Given the description of an element on the screen output the (x, y) to click on. 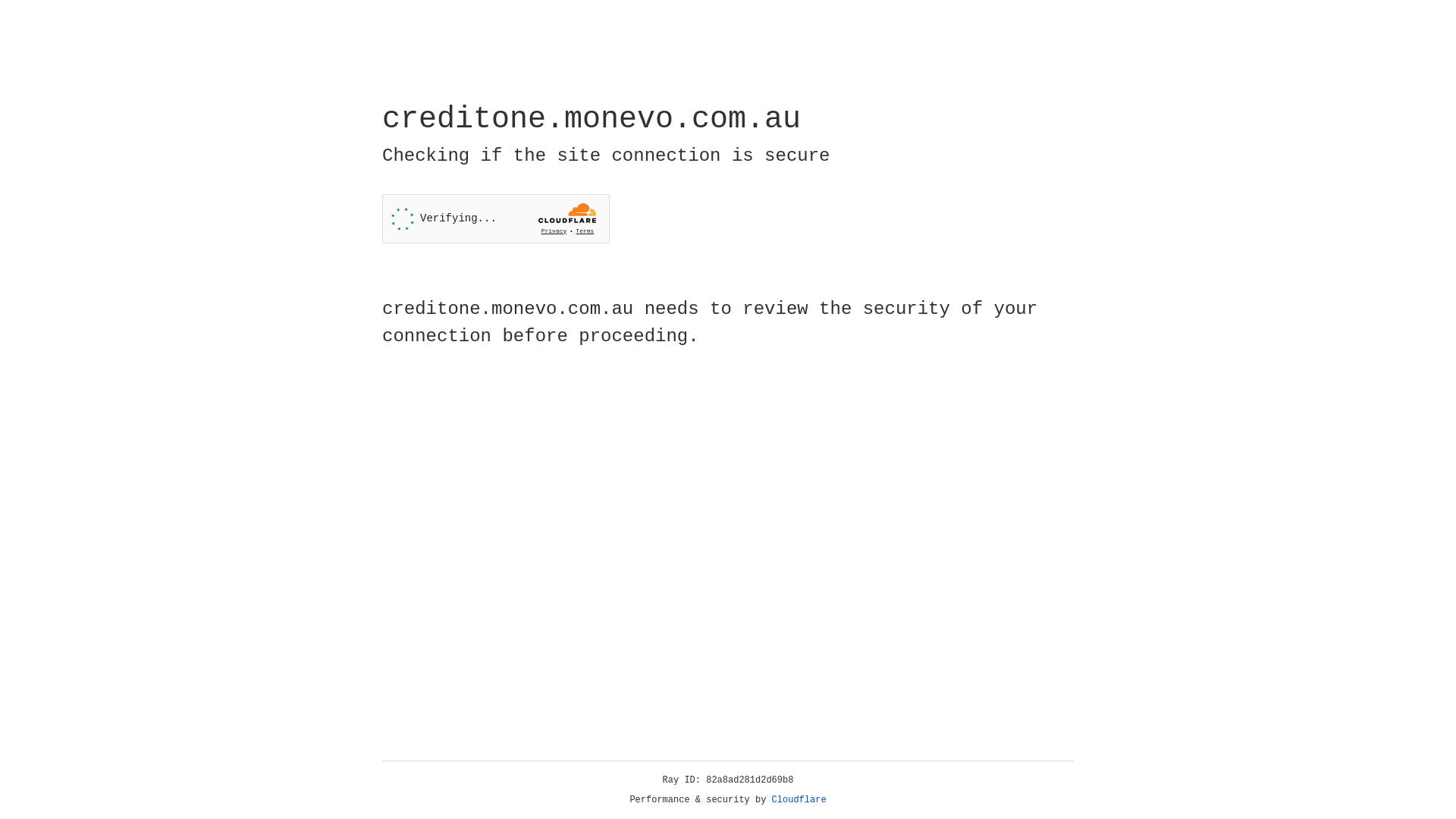
Cloudflare Element type: text (798, 799)
Widget containing a Cloudflare security challenge Element type: hover (495, 218)
